Given the description of an element on the screen output the (x, y) to click on. 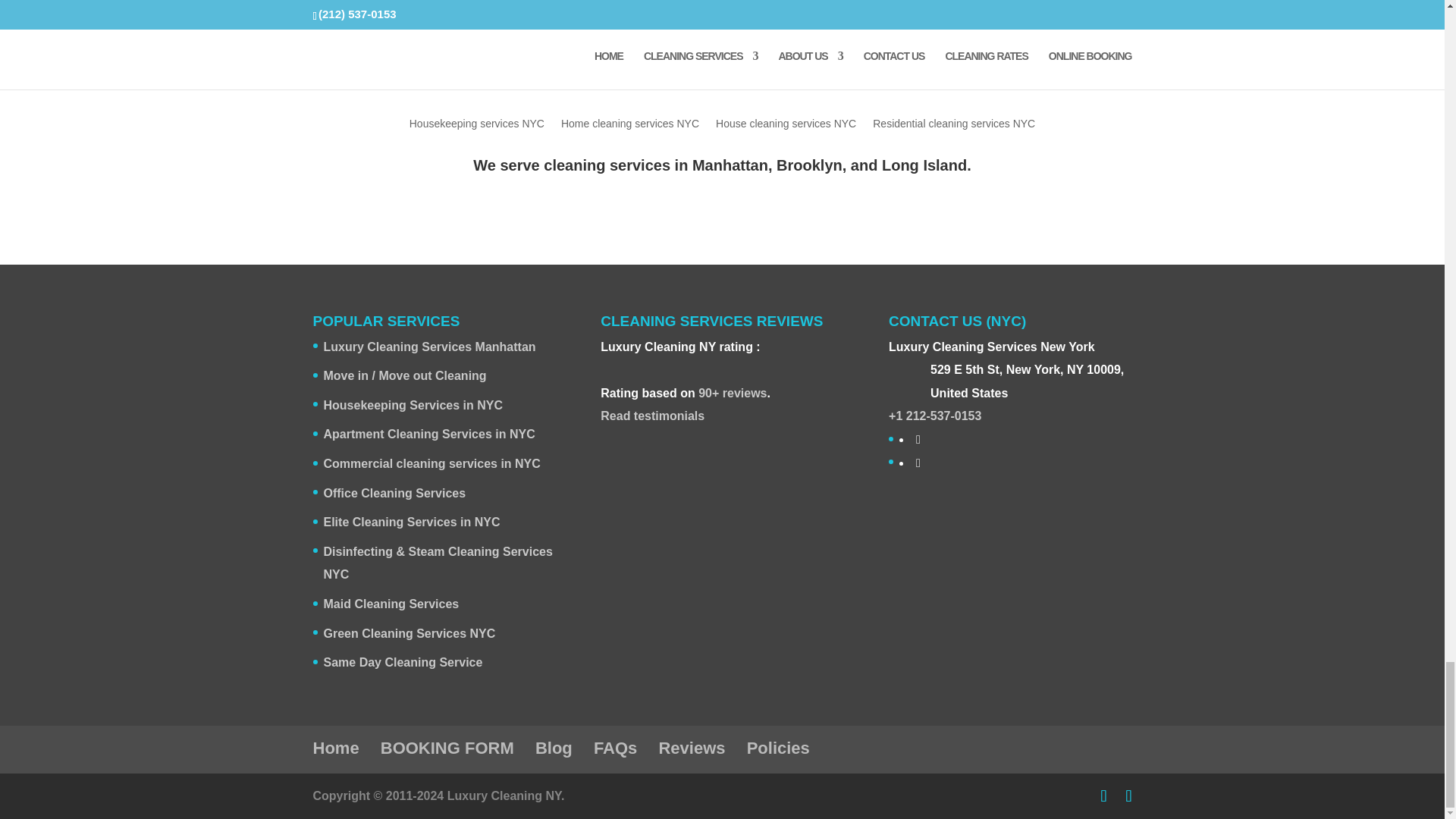
Home cleaning services NYC (629, 126)
Apartment Cleaning Services in NYC (428, 433)
Luxury Cleaning Services Manhattan (429, 346)
Elite Cleaning Services in NYC (411, 521)
Housekeeping services NYC (476, 126)
Office Cleaning Services (394, 492)
Gorgeous (605, 364)
Commercial cleaning services in NYC (431, 463)
House cleaning services NYC (786, 126)
Gorgeous (619, 364)
Residential cleaning services NYC (953, 126)
Gorgeous (679, 381)
Gorgeous (632, 364)
Housekeeping Services in NYC (412, 404)
Gorgeous (645, 364)
